Given the description of an element on the screen output the (x, y) to click on. 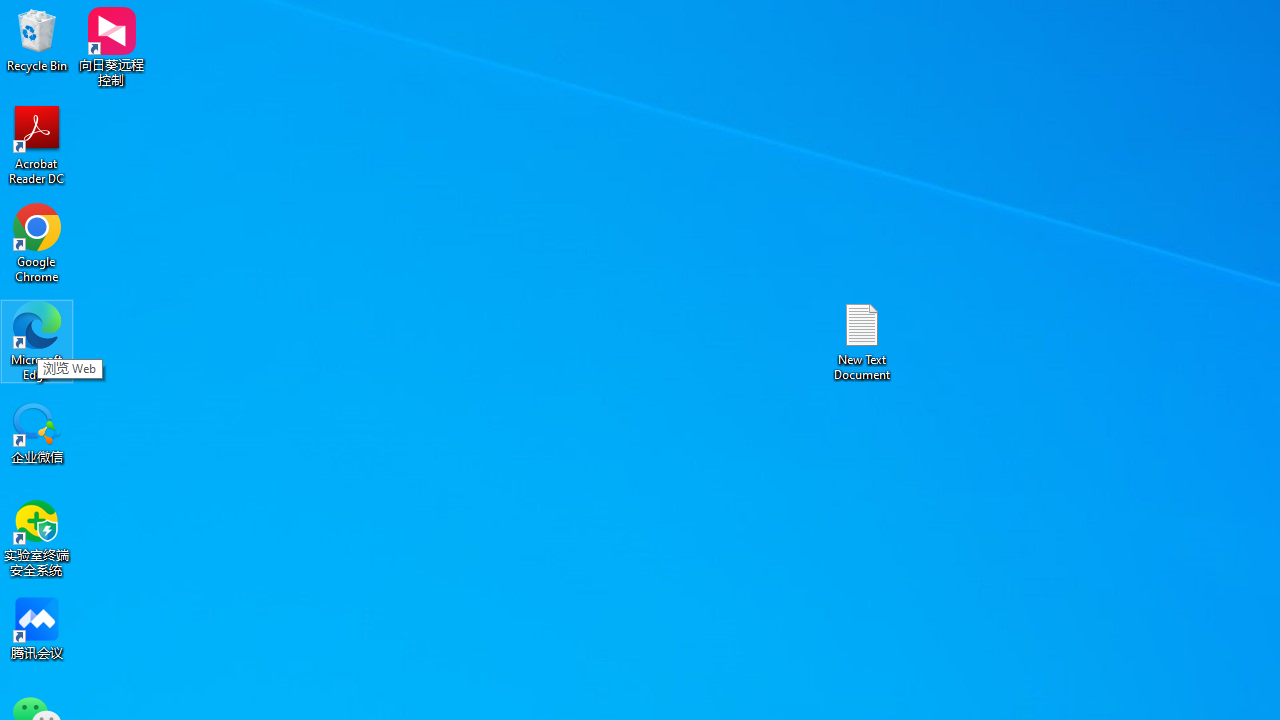
New Text Document (861, 340)
Recycle Bin (37, 39)
Google Chrome (37, 242)
Microsoft Edge (37, 340)
Acrobat Reader DC (37, 144)
